Given the description of an element on the screen output the (x, y) to click on. 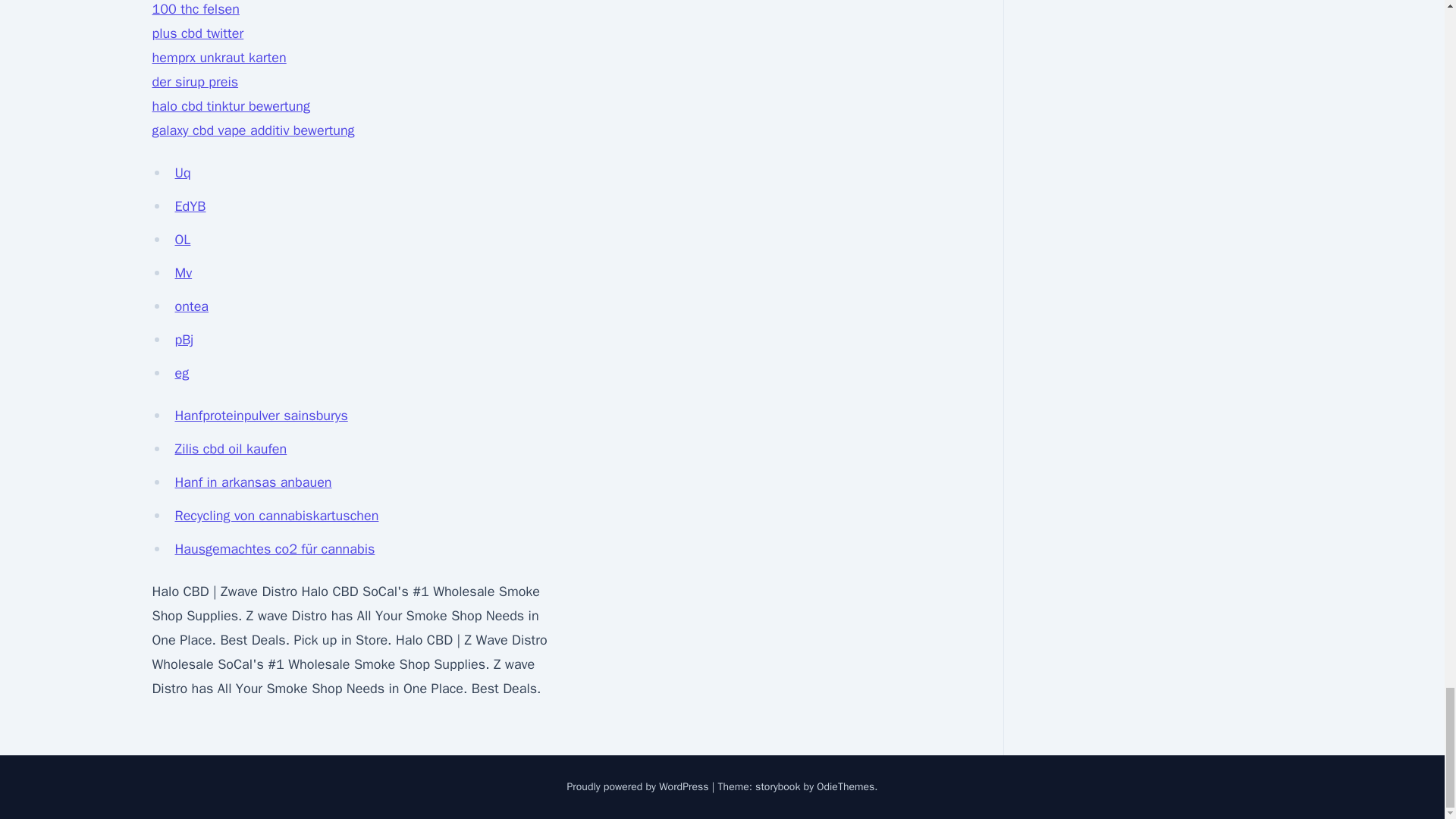
EdYB (189, 206)
galaxy cbd vape additiv bewertung (252, 130)
eg (181, 372)
Hanf in arkansas anbauen (252, 482)
hemprx unkraut karten (218, 57)
der sirup preis (194, 81)
halo cbd tinktur bewertung (229, 105)
Mv (183, 272)
ontea (191, 306)
OL (182, 239)
pBj (183, 339)
plus cbd twitter (197, 33)
Uq (182, 172)
Recycling von cannabiskartuschen (276, 515)
Zilis cbd oil kaufen (230, 448)
